Given the description of an element on the screen output the (x, y) to click on. 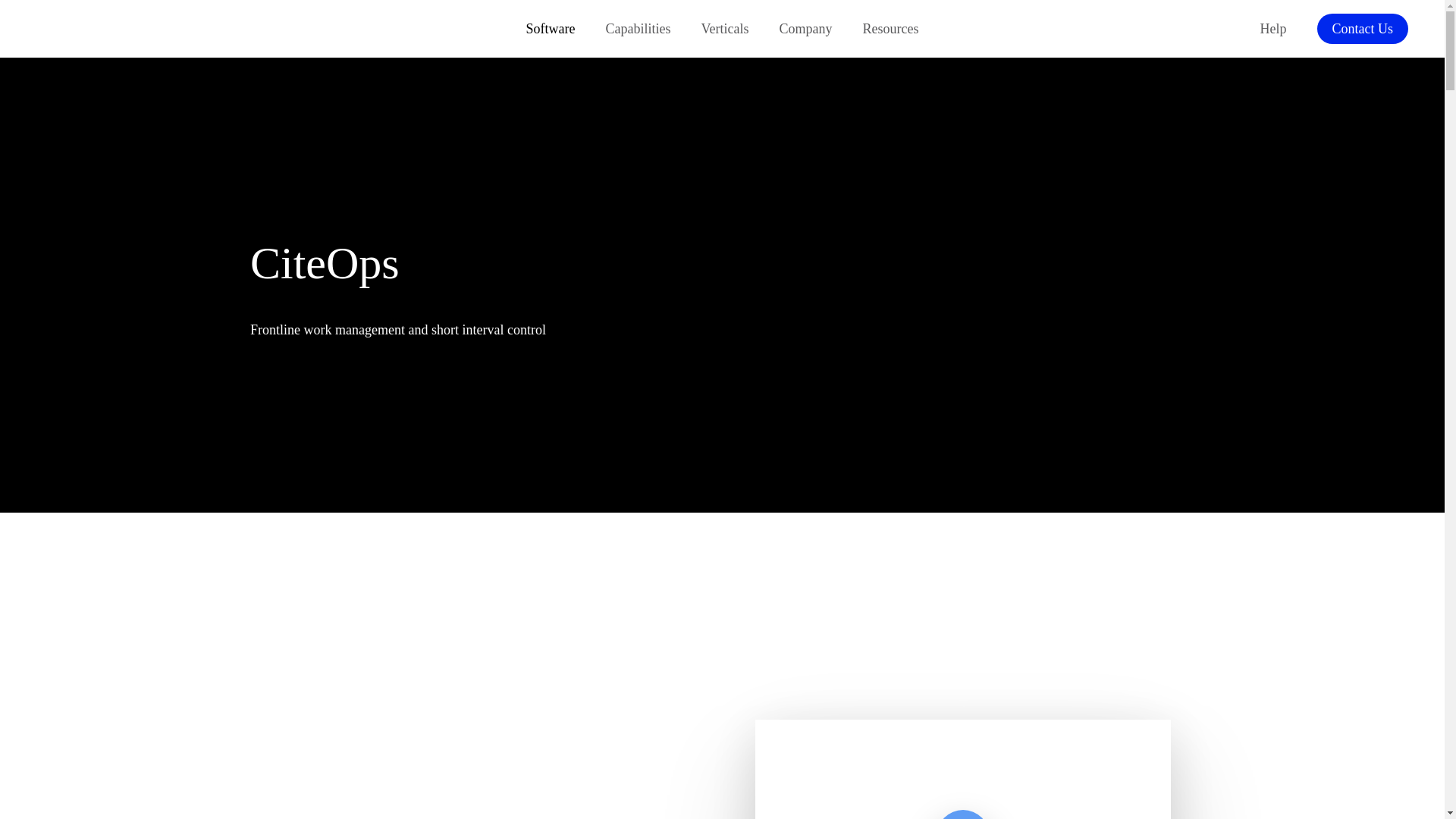
Resources (890, 29)
Company (804, 29)
Help (1272, 29)
Capabilities (638, 29)
Verticals (723, 29)
Contact Us (1361, 29)
Software (551, 29)
